Given the description of an element on the screen output the (x, y) to click on. 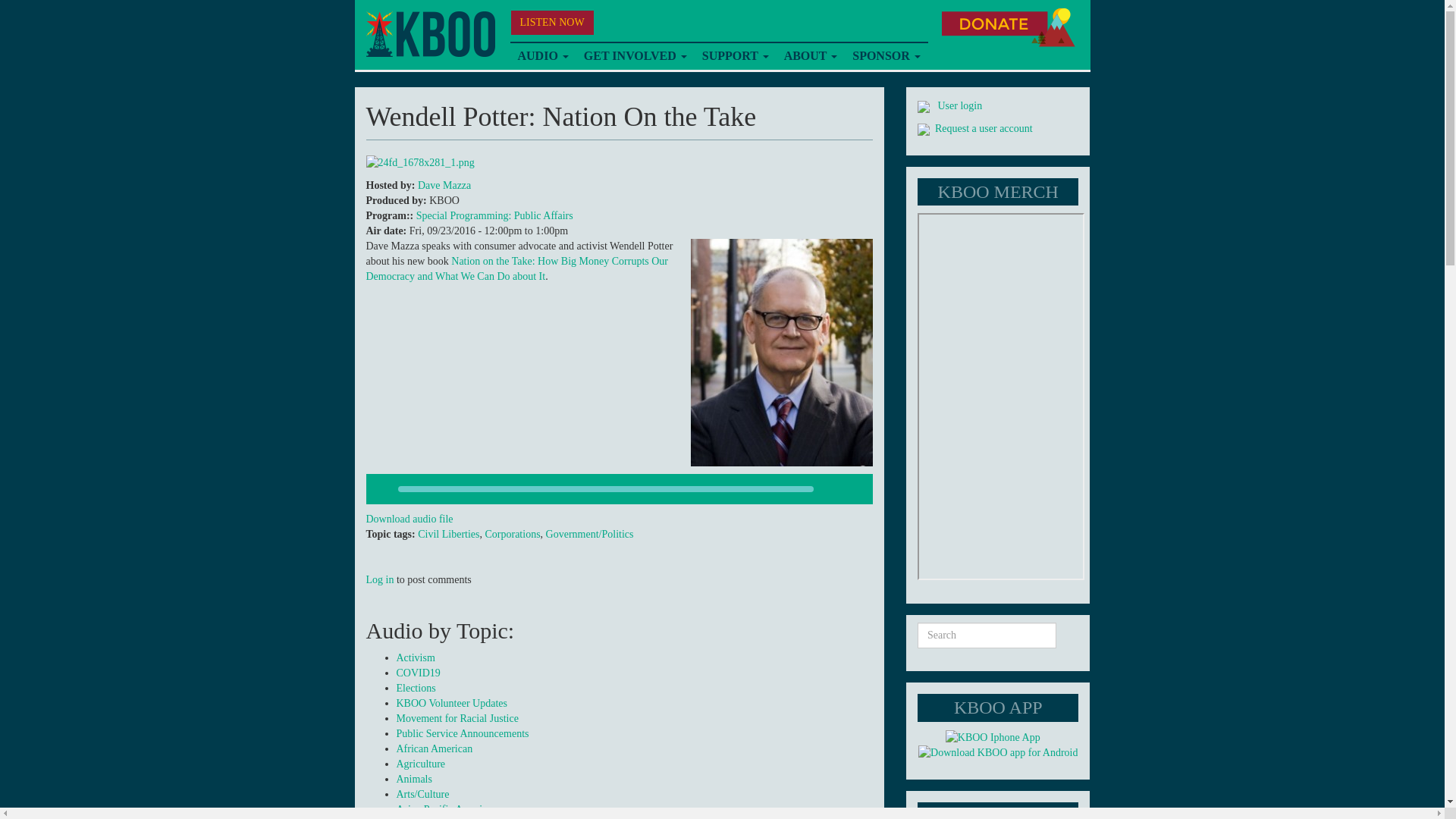
SPONSOR (886, 55)
GET INVOLVED (635, 55)
Home (430, 34)
AUDIO (542, 55)
LISTEN NOW (551, 22)
SUPPORT (735, 55)
ABOUT (810, 55)
